Given the description of an element on the screen output the (x, y) to click on. 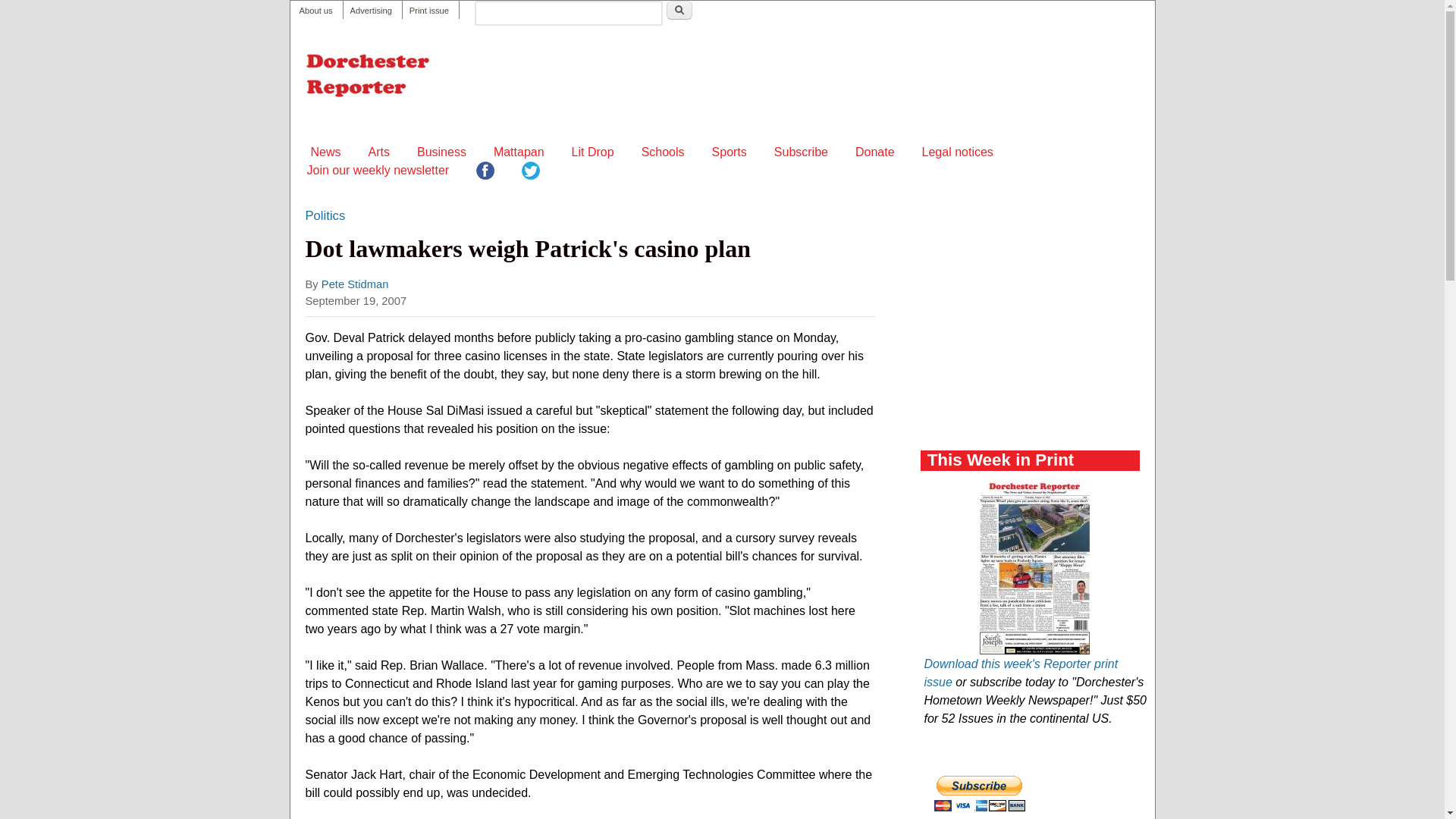
News (325, 152)
Join our weekly newsletter (376, 170)
Politics (324, 215)
Donate (874, 152)
Legal notices (956, 152)
About us (315, 10)
3rd party ad content (1034, 339)
Search (679, 9)
Schools (662, 152)
Download this week's Reporter print issue (1020, 672)
Subscribe (801, 152)
Pete Stidman (354, 284)
Lit Drop (593, 152)
Sports (729, 152)
Mattapan (518, 152)
